Given the description of an element on the screen output the (x, y) to click on. 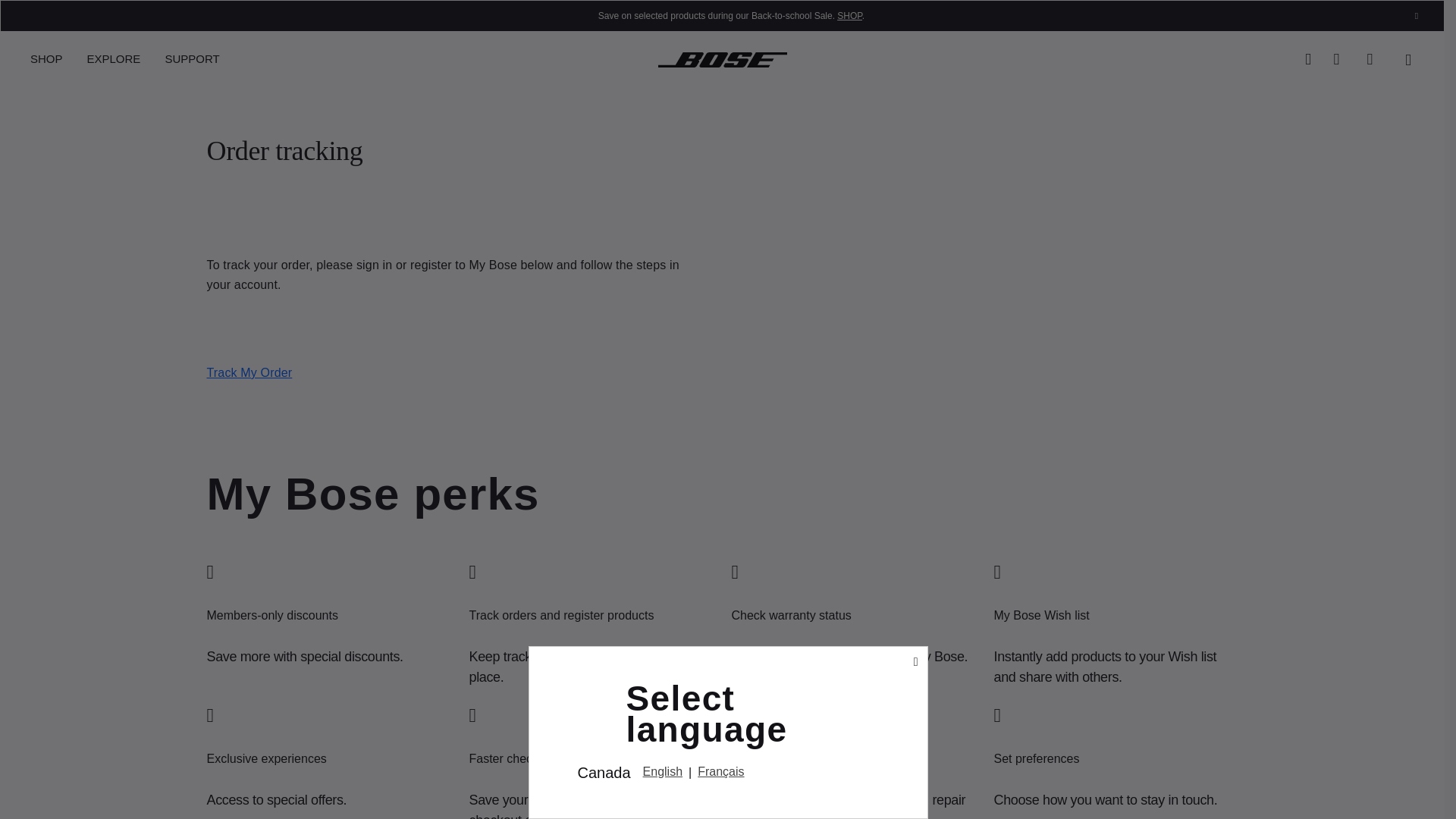
Bose Home (722, 58)
Wish list (1374, 58)
EXPLORE (113, 58)
SHOP (849, 15)
SUPPORT (185, 58)
